Given the description of an element on the screen output the (x, y) to click on. 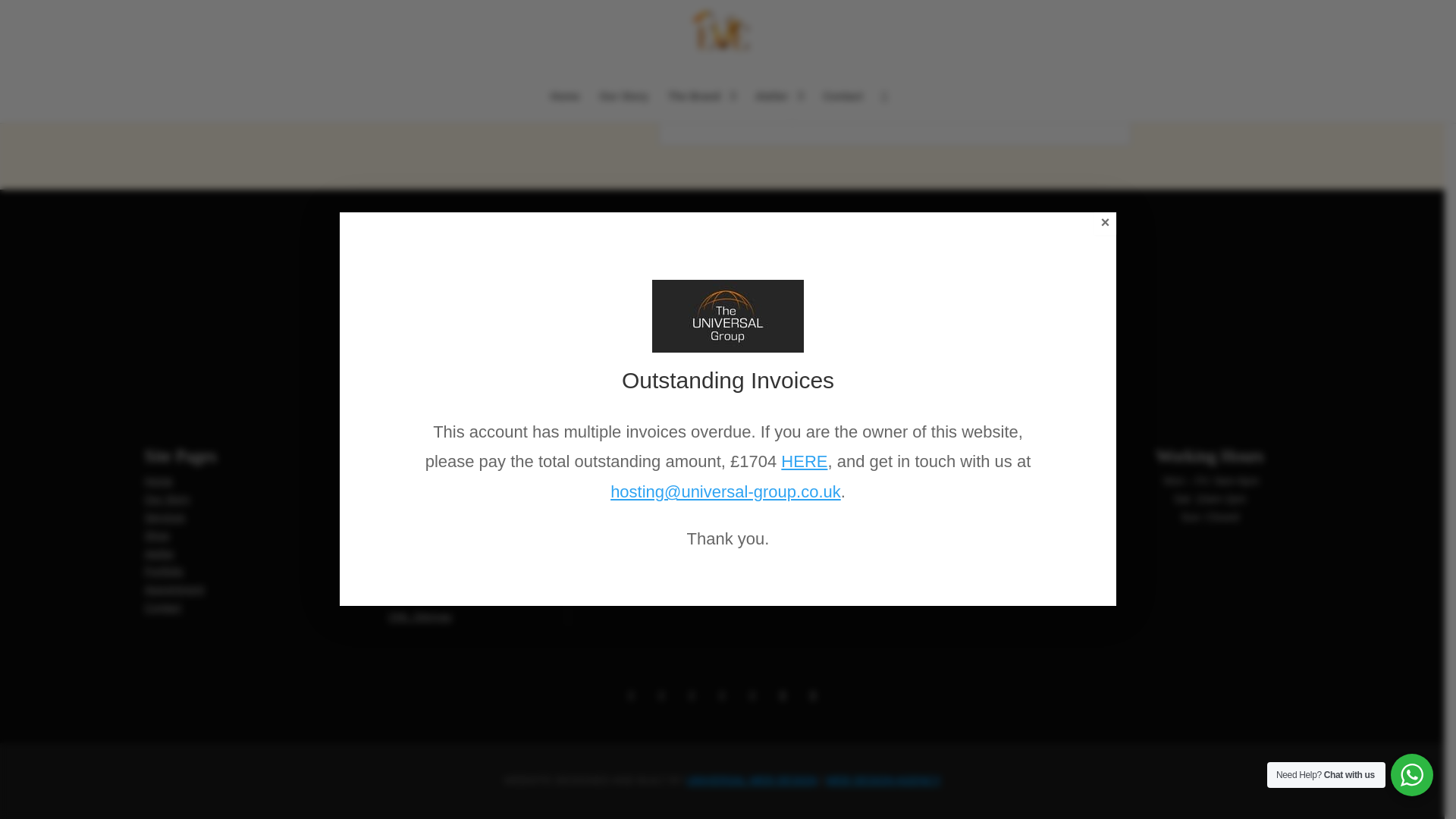
Follow on TikTok (691, 695)
Follow on Facebook (660, 695)
Follow on Pinterest (721, 695)
Follow on Instagram (630, 695)
